Given the description of an element on the screen output the (x, y) to click on. 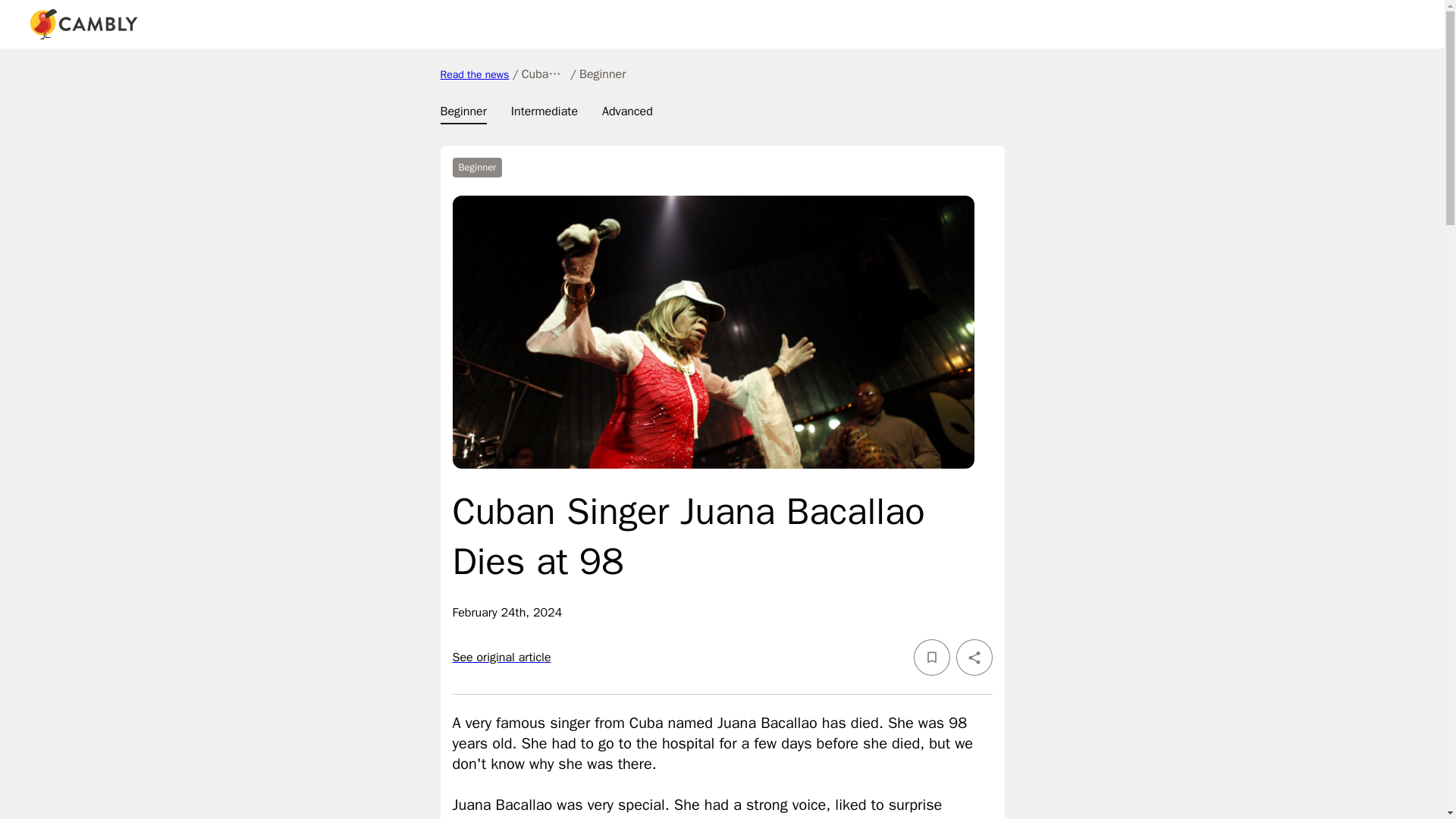
Advanced (627, 114)
Beginner (462, 114)
Intermediate (544, 114)
See original article (500, 657)
Read the news (473, 74)
